Given the description of an element on the screen output the (x, y) to click on. 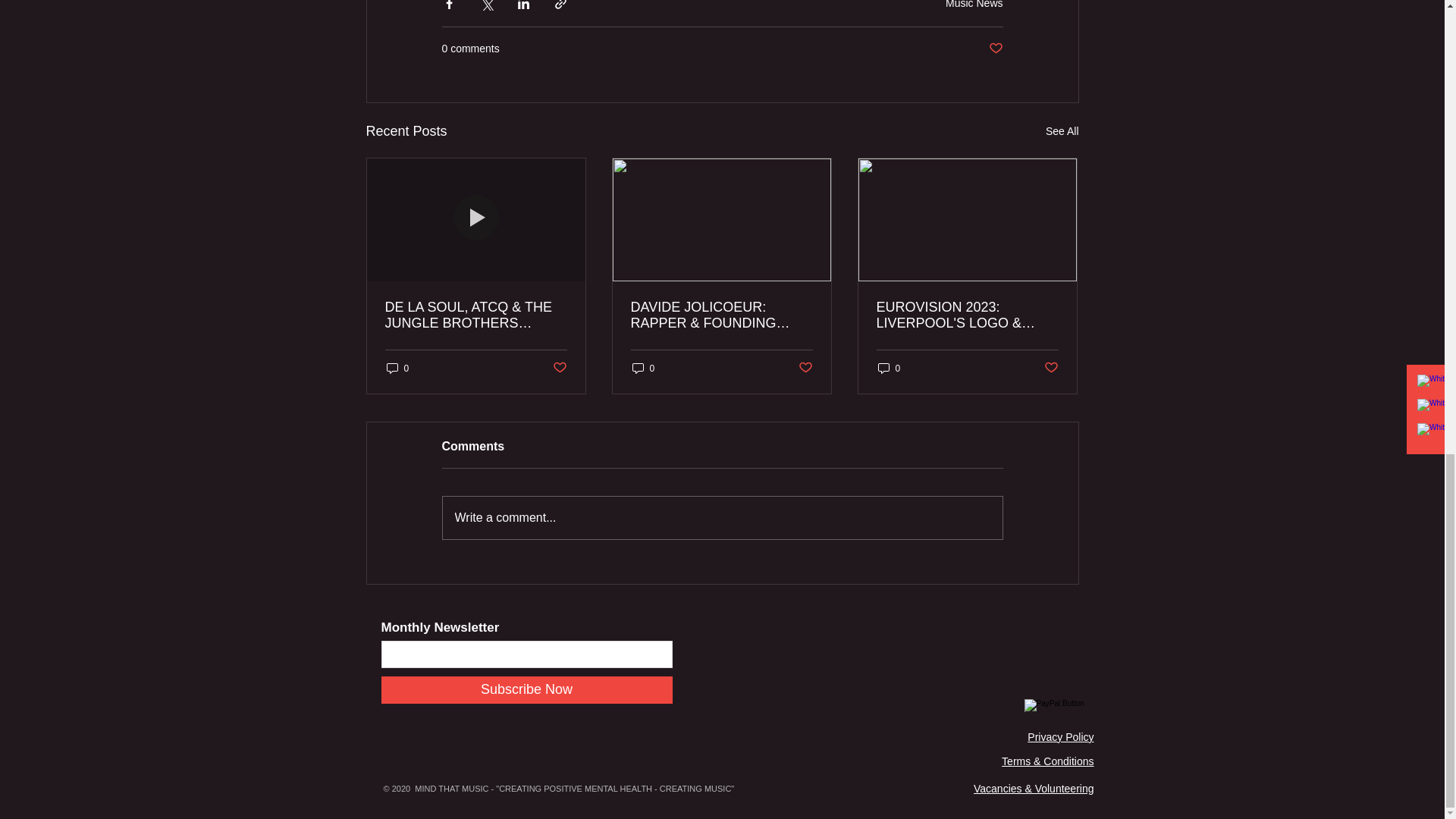
See All (1061, 131)
Music News (973, 4)
0 (643, 368)
Subscribe Now (525, 689)
0 (889, 368)
Write a comment... (722, 517)
0 (397, 368)
Post not marked as liked (995, 48)
Post not marked as liked (558, 367)
Post not marked as liked (1050, 367)
Post not marked as liked (804, 367)
